Given the description of an element on the screen output the (x, y) to click on. 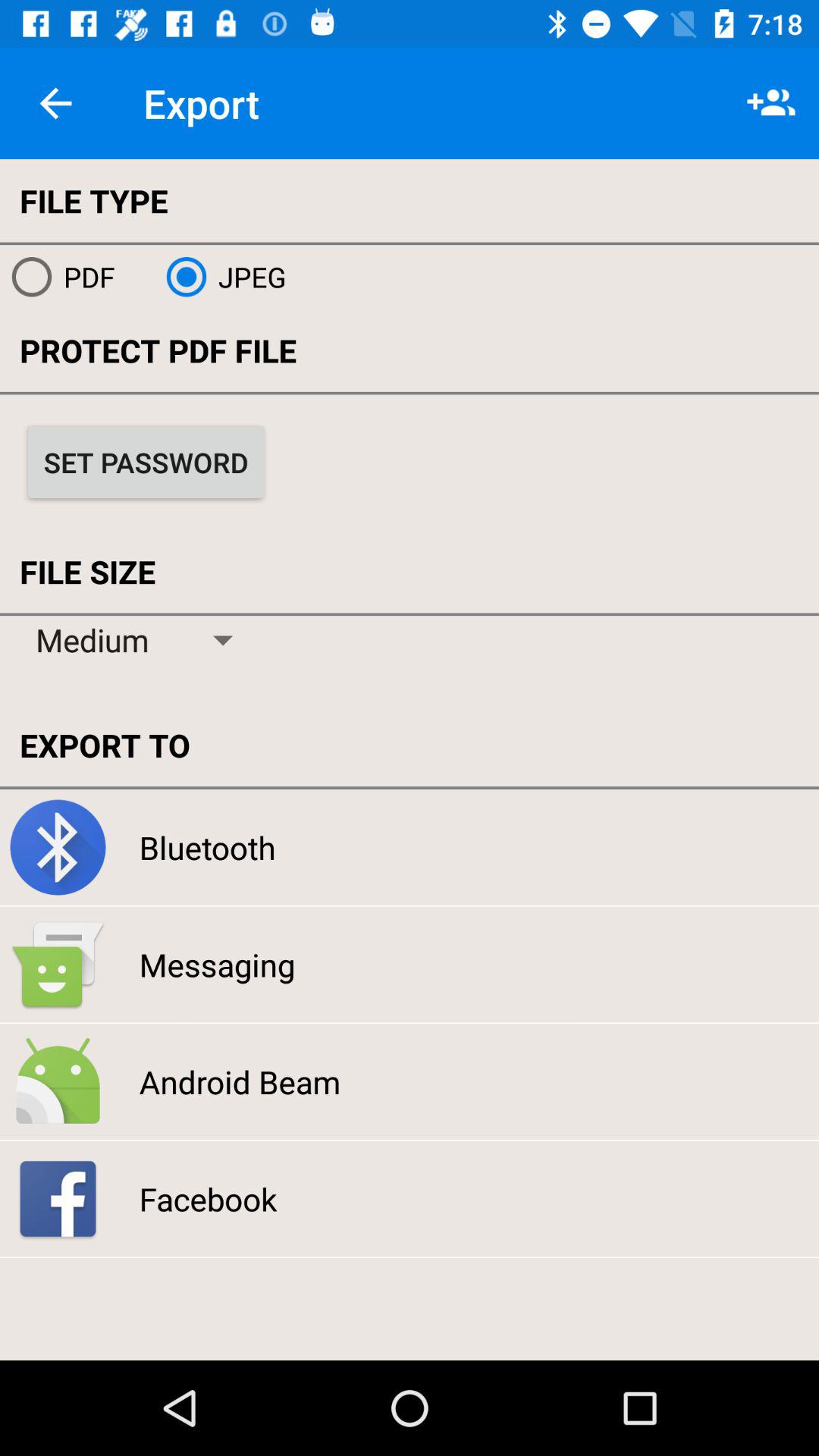
jump to the android beam (239, 1081)
